Given the description of an element on the screen output the (x, y) to click on. 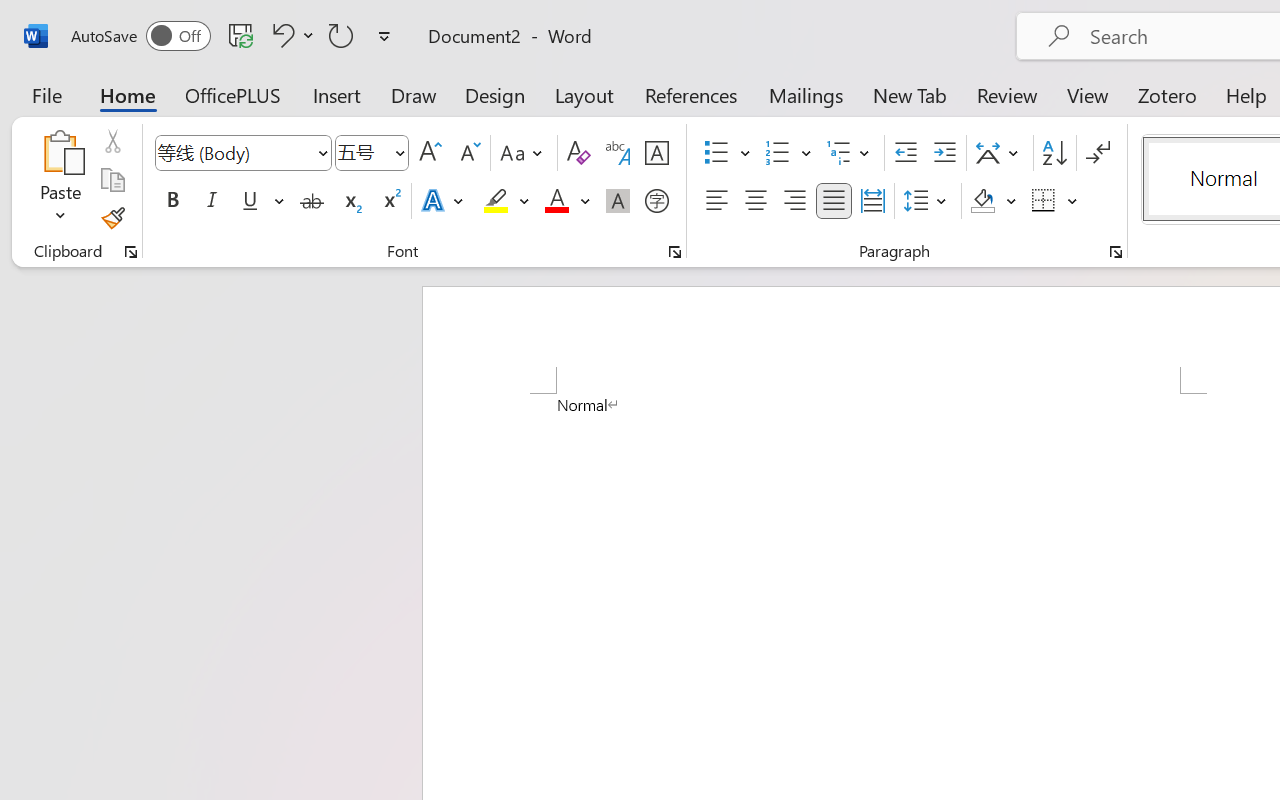
Subscript (350, 201)
Shrink Font (468, 153)
Borders (1044, 201)
Format Painter (112, 218)
Design (495, 94)
Font Size (372, 153)
Font... (675, 252)
Shading RGB(0, 0, 0) (982, 201)
Office Clipboard... (131, 252)
Sort... (1054, 153)
OfficePLUS (233, 94)
Superscript (390, 201)
Quick Access Toolbar (233, 36)
Text Highlight Color (506, 201)
Bold (172, 201)
